Given the description of an element on the screen output the (x, y) to click on. 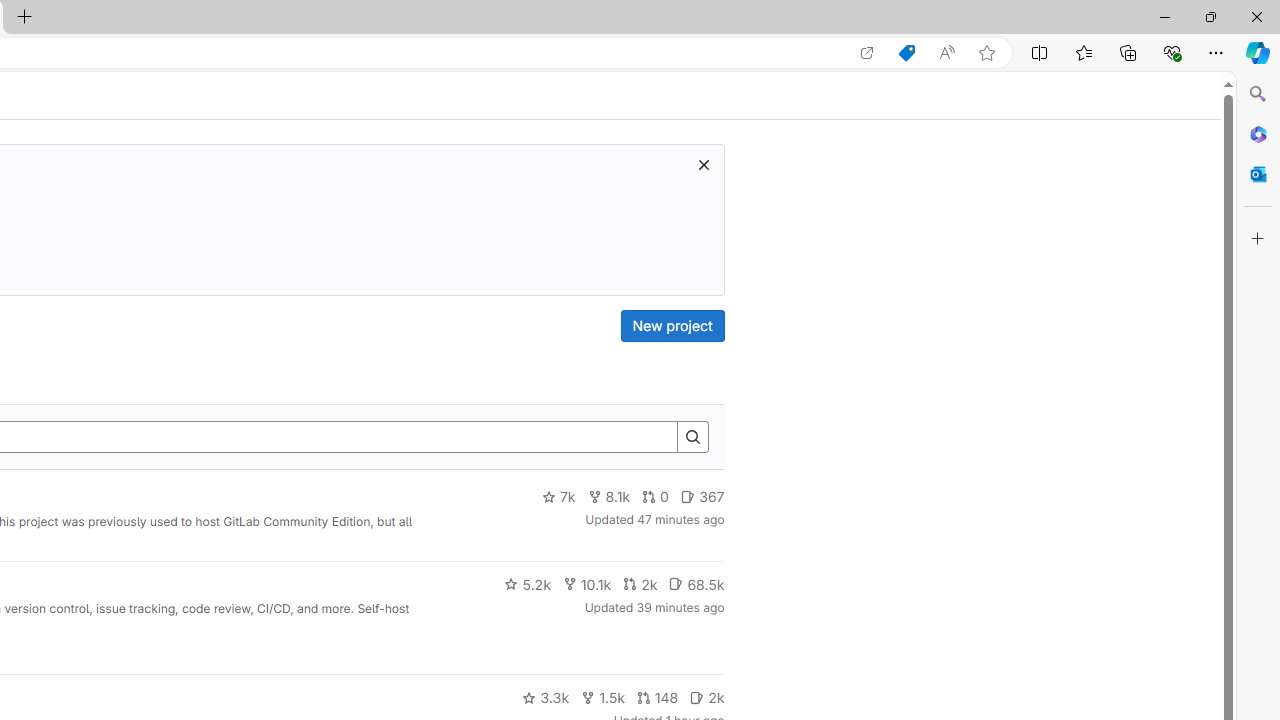
New project (671, 326)
